Given the description of an element on the screen output the (x, y) to click on. 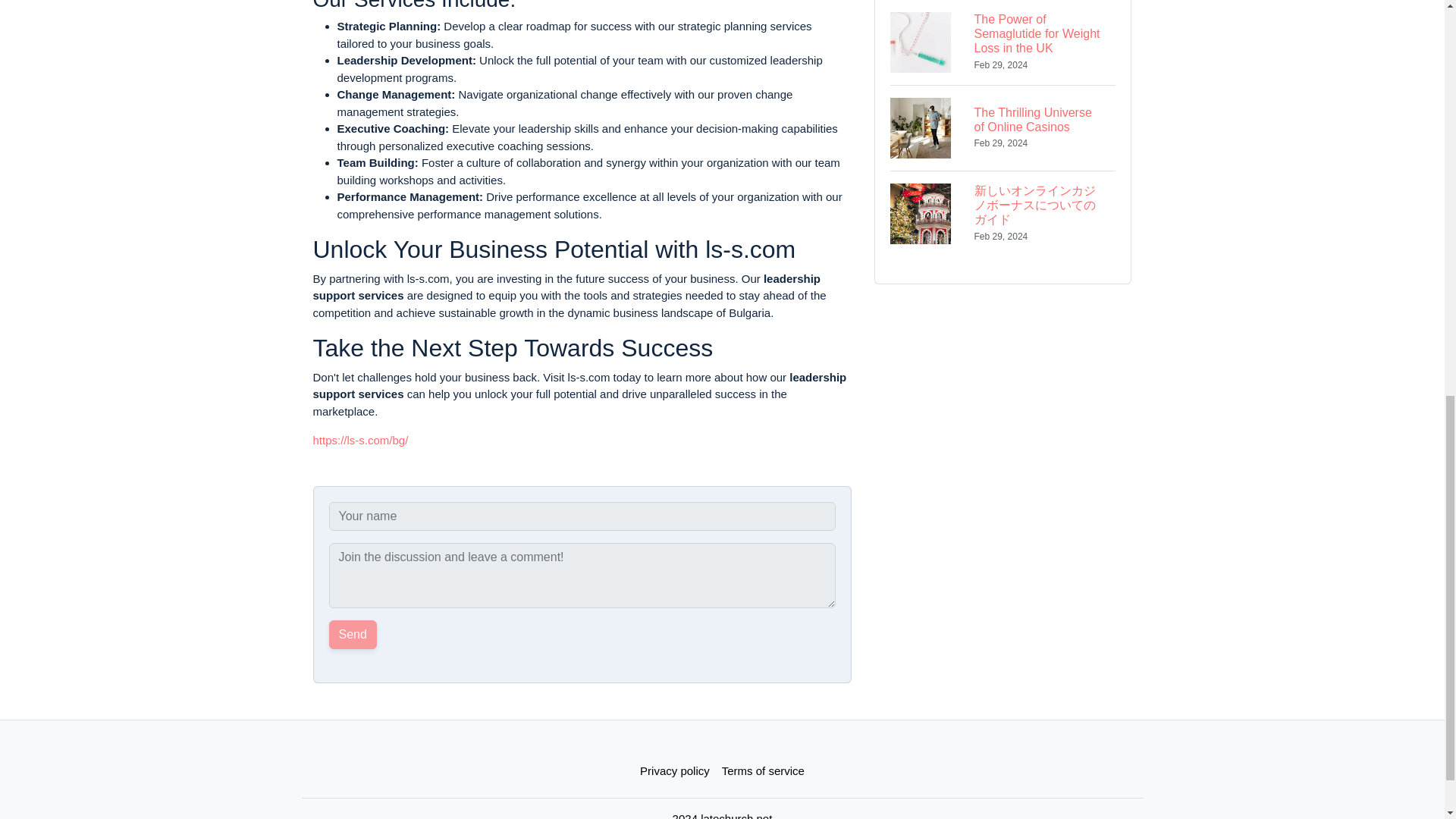
Send (353, 634)
Send (353, 634)
